Given the description of an element on the screen output the (x, y) to click on. 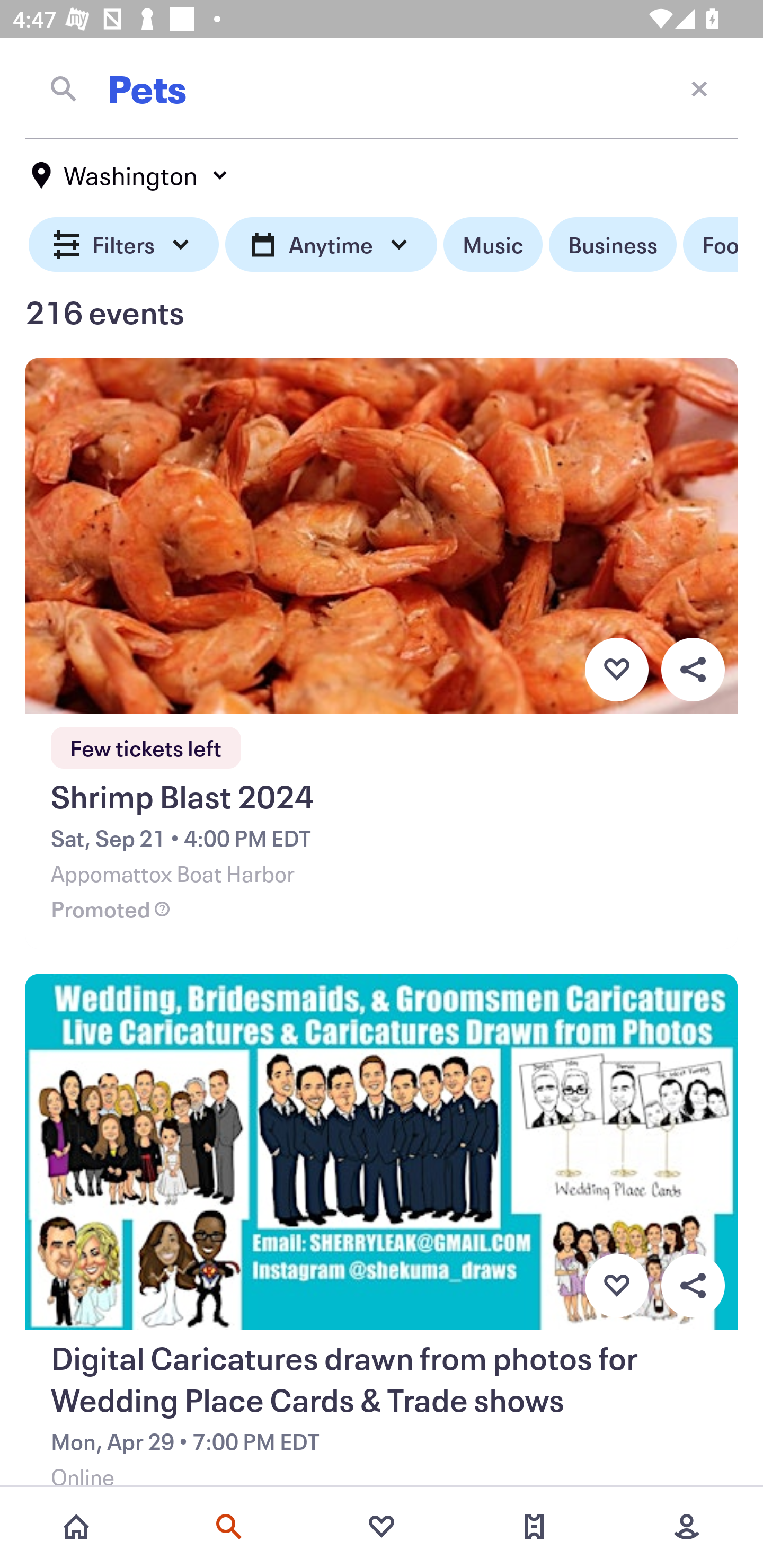
Pets Close current screen (381, 88)
Close current screen (699, 88)
Washington (130, 175)
Filters (123, 244)
Anytime (331, 244)
Music (492, 244)
Business (612, 244)
Favorite button (616, 669)
Overflow menu button (692, 669)
Favorite button (616, 1285)
Overflow menu button (692, 1285)
Home (76, 1526)
Search events (228, 1526)
Favorites (381, 1526)
Tickets (533, 1526)
More (686, 1526)
